Given the description of an element on the screen output the (x, y) to click on. 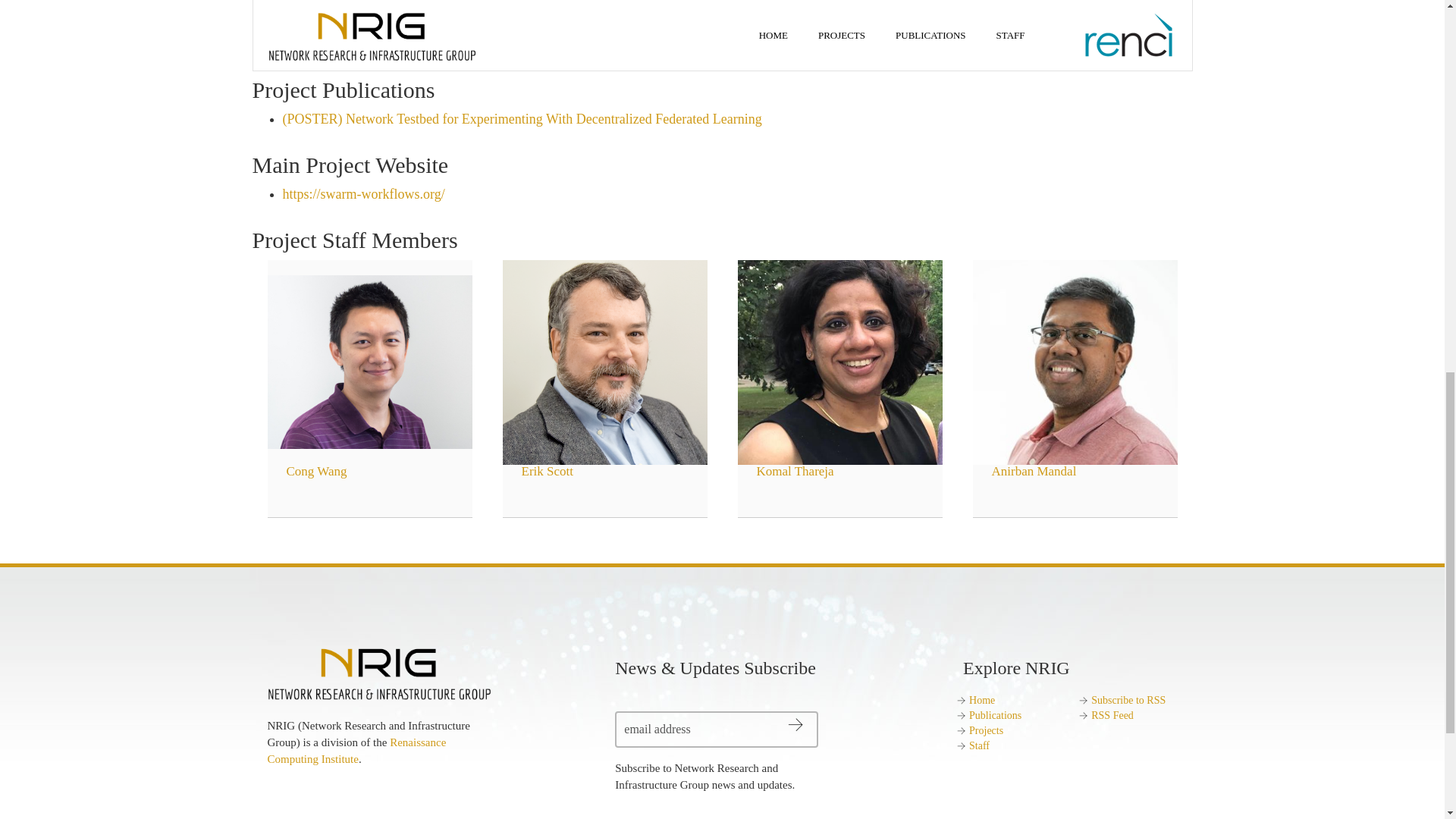
Erik Scott (604, 372)
Publications (995, 715)
Cong Wang (368, 372)
Anirban Mandal (1074, 372)
Home (981, 699)
Projects (986, 730)
Subscribe to RSS (1128, 699)
RSS Feed (1112, 715)
Submit (822, 724)
Submit (822, 724)
email address (716, 729)
Staff (979, 745)
Renaissance Computing Institute (355, 750)
Komal Thareja (839, 372)
